Given the description of an element on the screen output the (x, y) to click on. 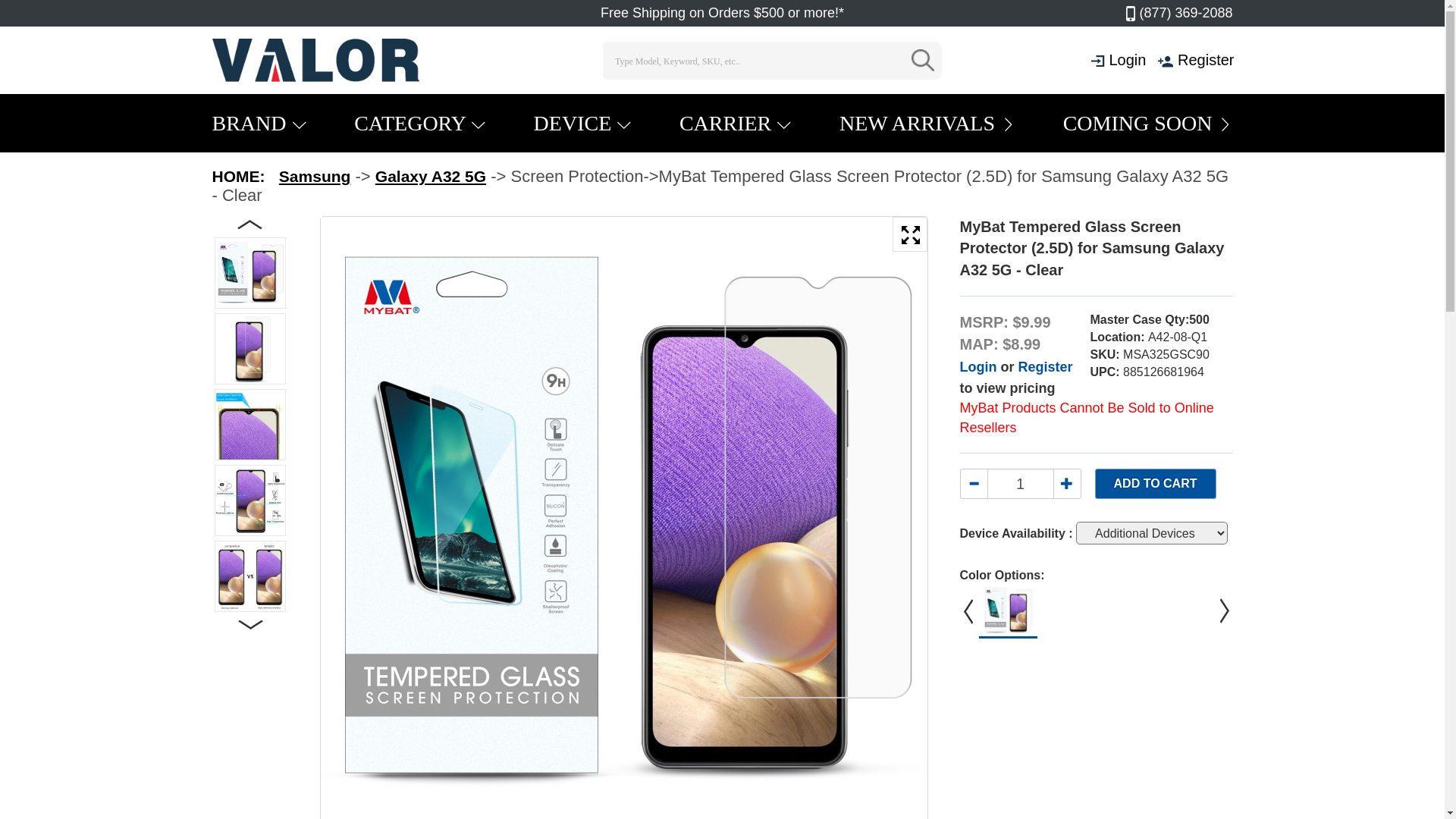
Samsung Element type: text (315, 176)
Free Shipping on Orders $500 or more!* Element type: text (722, 12)
Register Element type: text (1205, 59)
Register Element type: text (1044, 366)
COMING SOON  Element type: text (1147, 123)
Galaxy A32 5G Element type: text (430, 176)
NEW ARRIVALS  Element type: text (926, 123)
ADD TO CART Element type: text (1155, 483)
Login Element type: text (978, 366)
HOME: Element type: text (238, 176)
Login Element type: text (1126, 59)
